Given the description of an element on the screen output the (x, y) to click on. 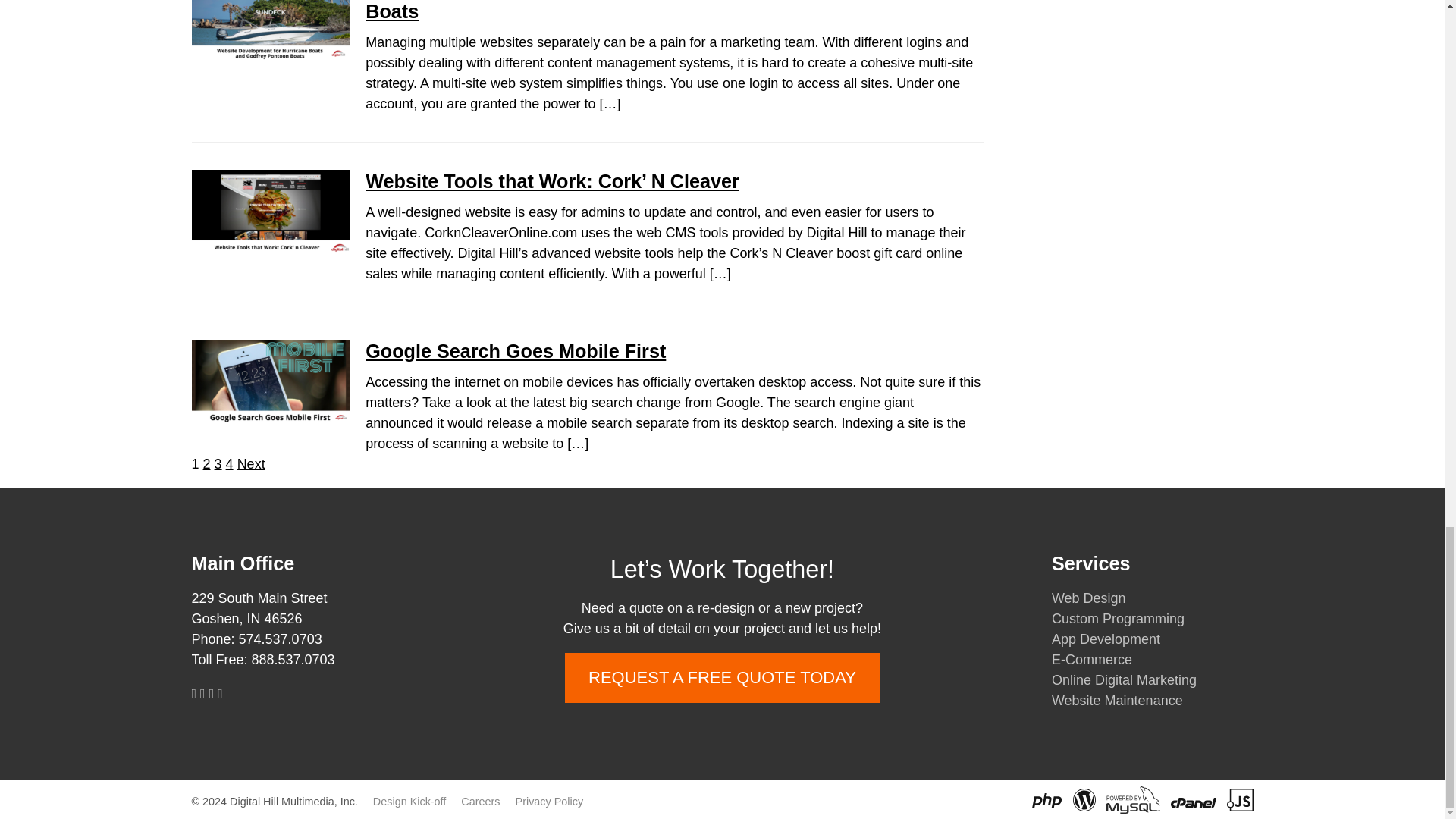
Next (250, 463)
Google Search Goes Mobile First (515, 350)
